Given the description of an element on the screen output the (x, y) to click on. 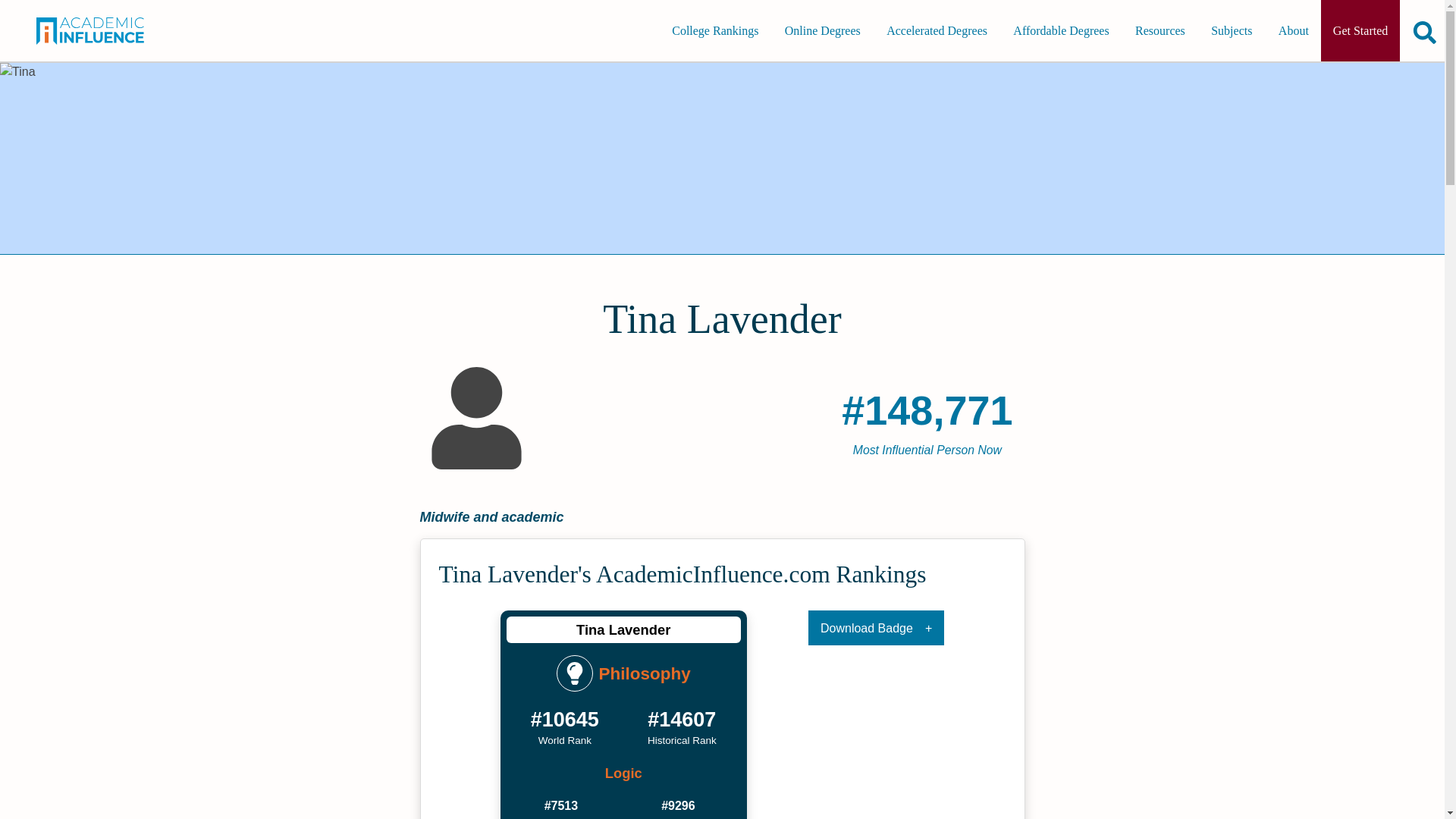
Affordable Degrees (1061, 30)
Get Started (1359, 30)
Online Degrees (822, 30)
Accelerated Degrees (936, 30)
College Rankings (714, 30)
Subjects (1230, 30)
About (1293, 30)
Resources (1159, 30)
